Given the description of an element on the screen output the (x, y) to click on. 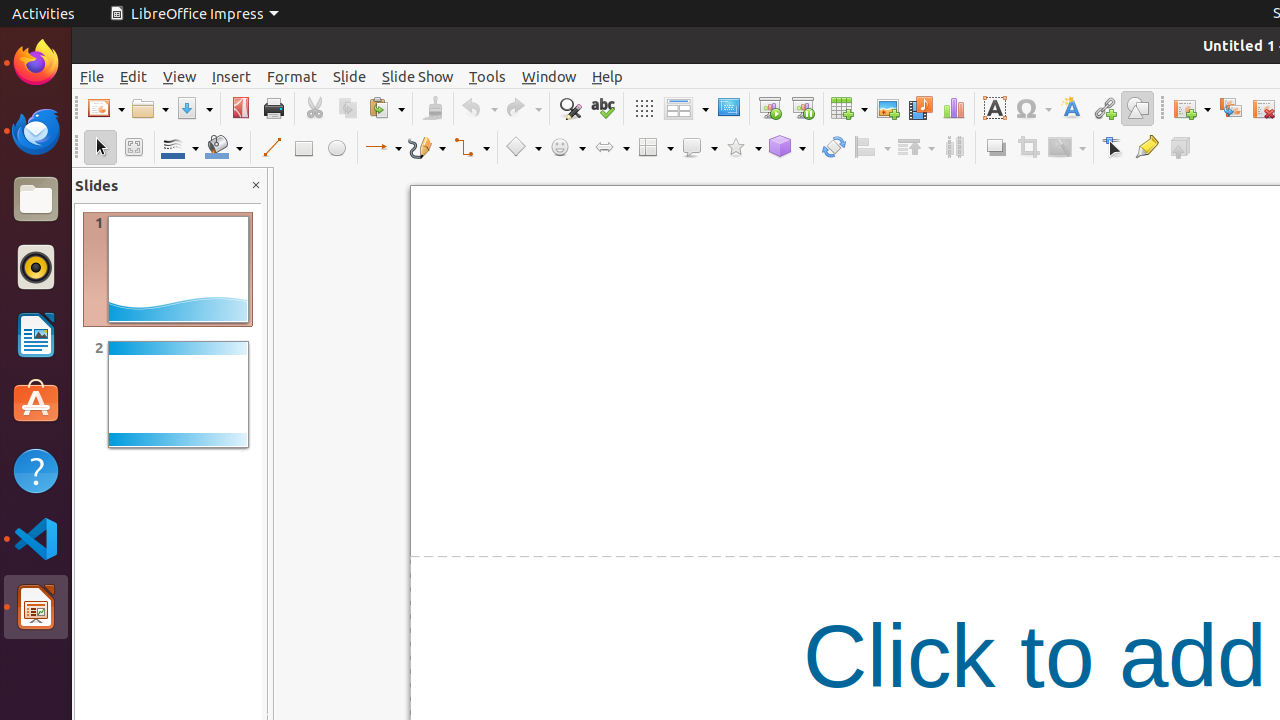
Chart Element type: push-button (953, 108)
Duplicate Slide Element type: push-button (1230, 108)
Callout Shapes Element type: push-button (699, 147)
Open Element type: push-button (150, 108)
Table Element type: push-button (849, 108)
